Given the description of an element on the screen output the (x, y) to click on. 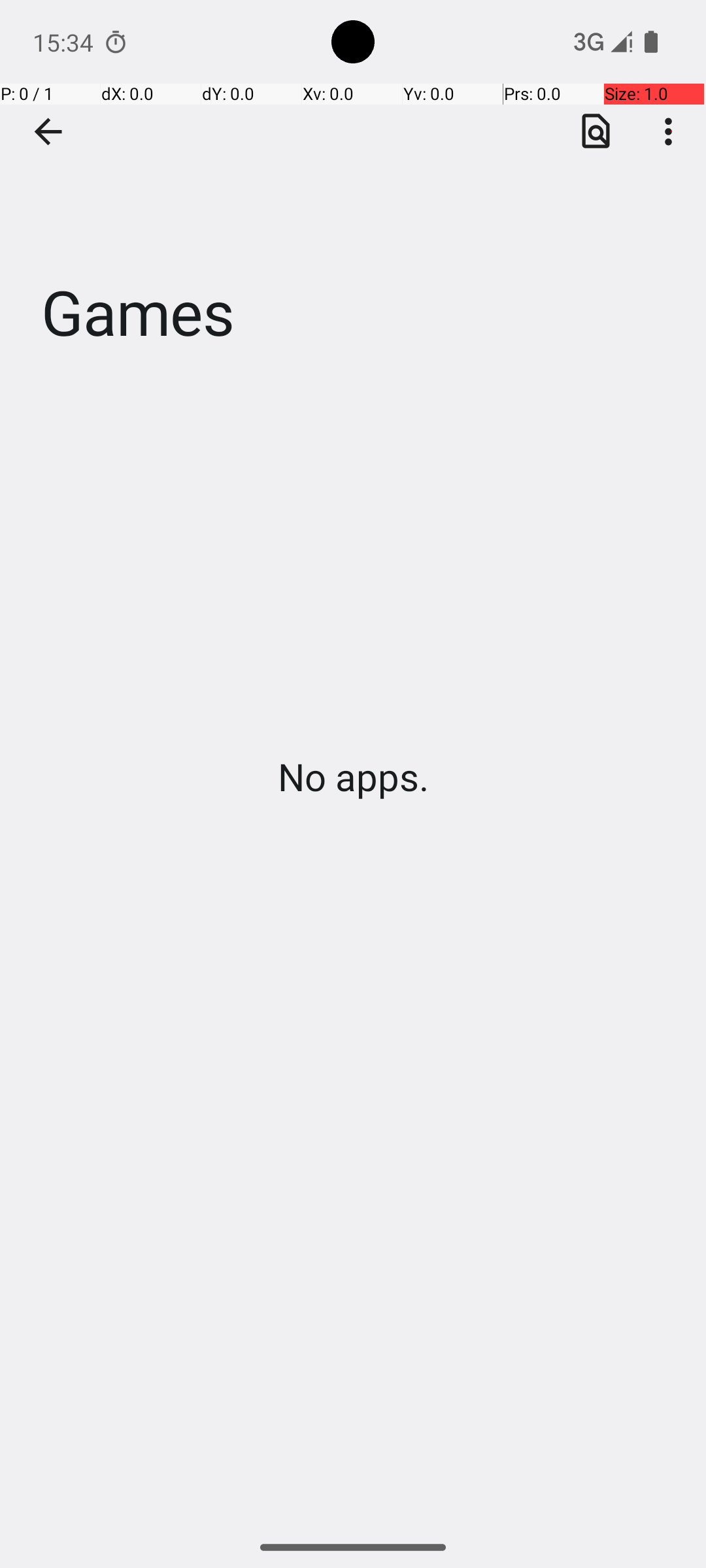
No apps. Element type: android.widget.TextView (353, 776)
